Given the description of an element on the screen output the (x, y) to click on. 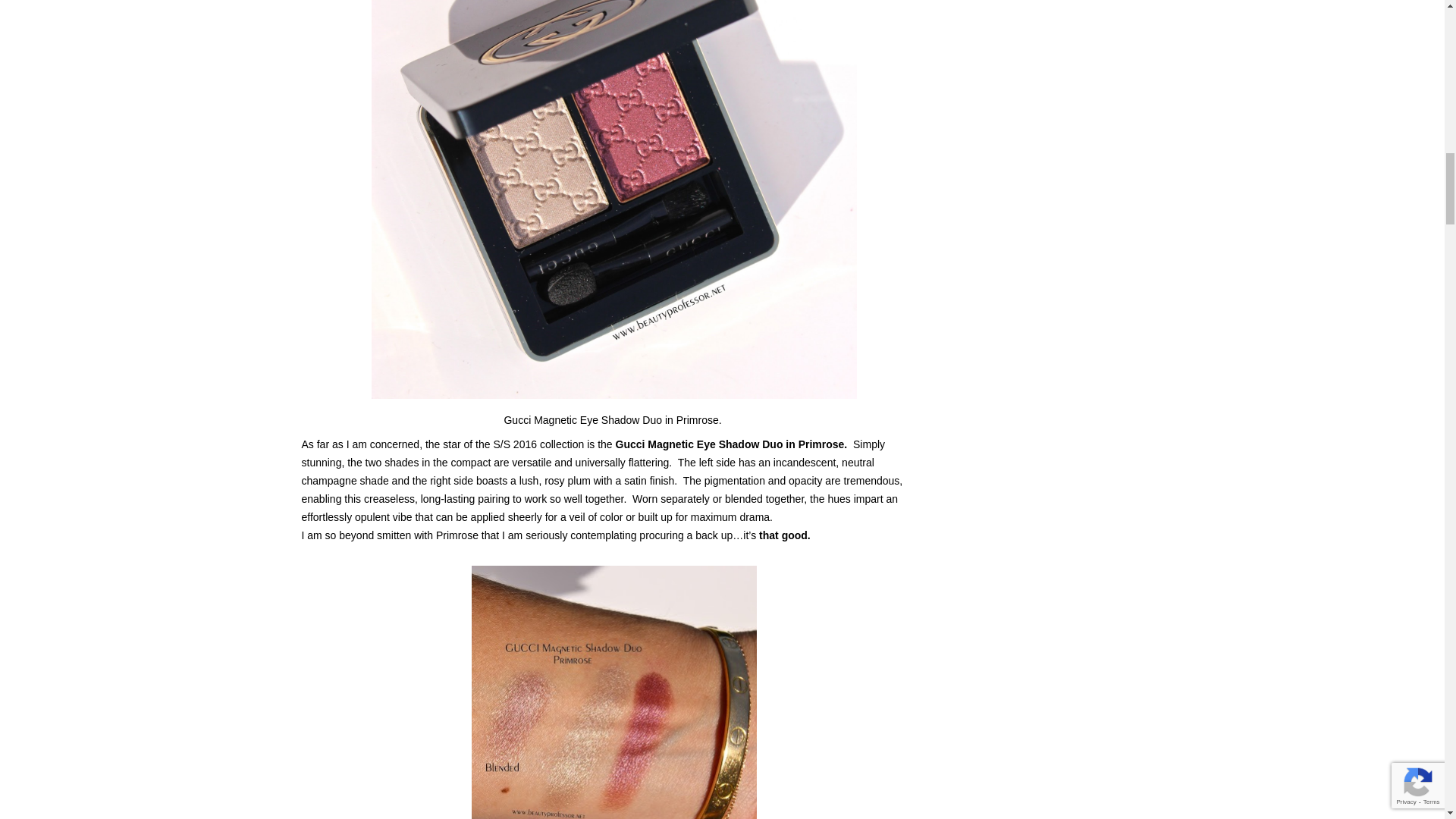
gucci eyeshadow duo primrose swatches (614, 692)
